Given the description of an element on the screen output the (x, y) to click on. 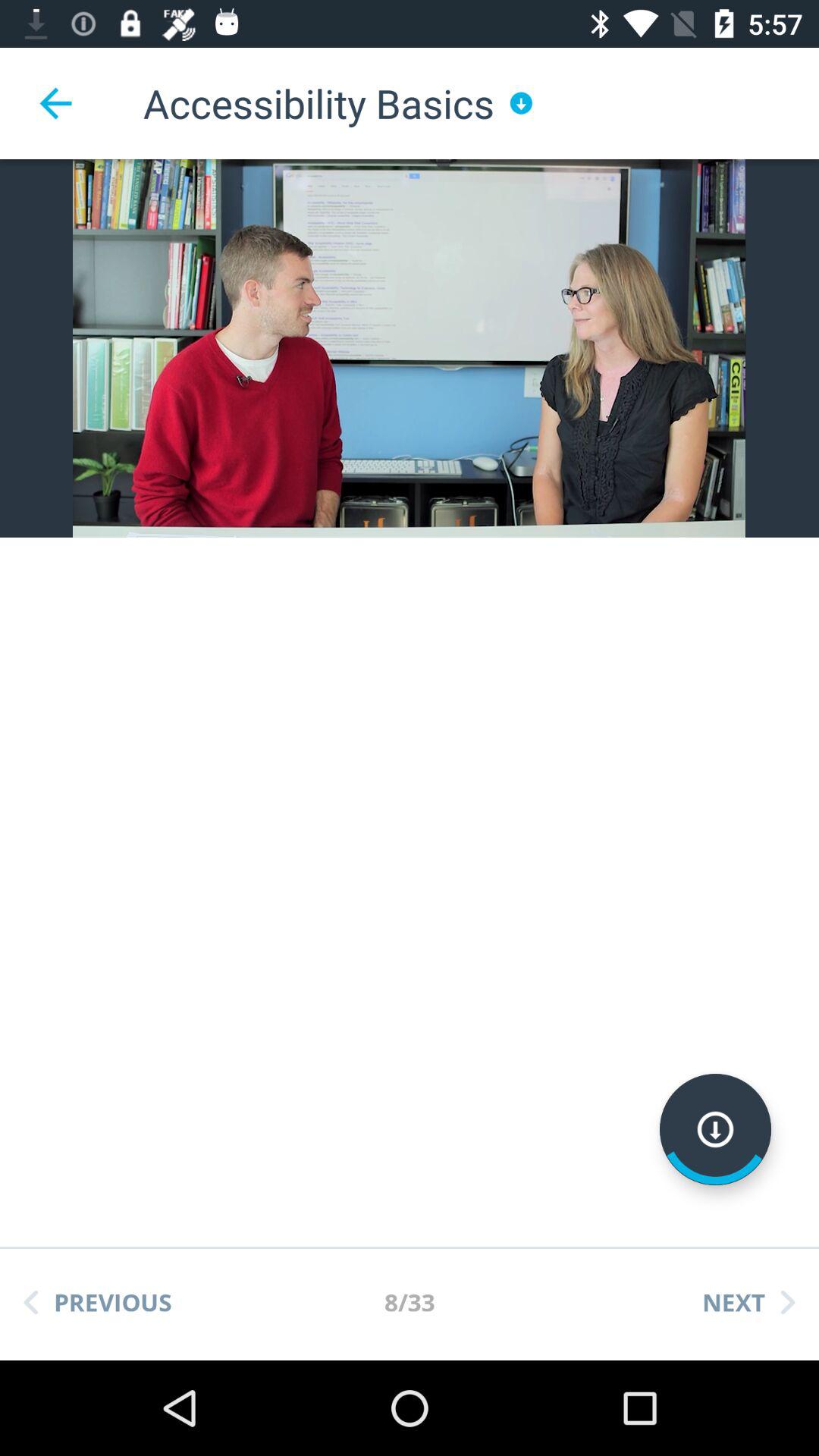
download (715, 1129)
